Given the description of an element on the screen output the (x, y) to click on. 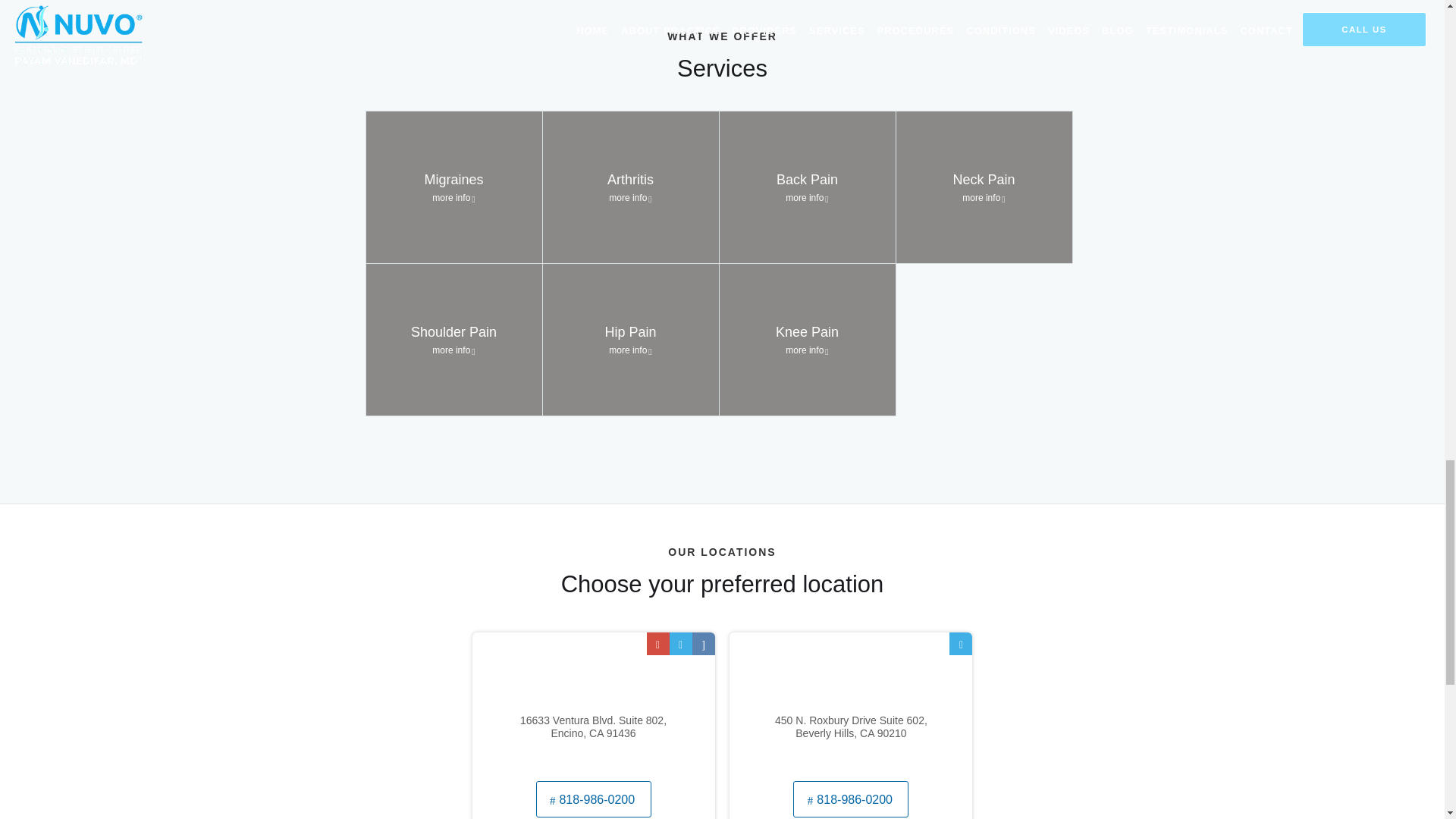
Map of Encino (592, 704)
Map of Beverly Hills  (850, 704)
